Given the description of an element on the screen output the (x, y) to click on. 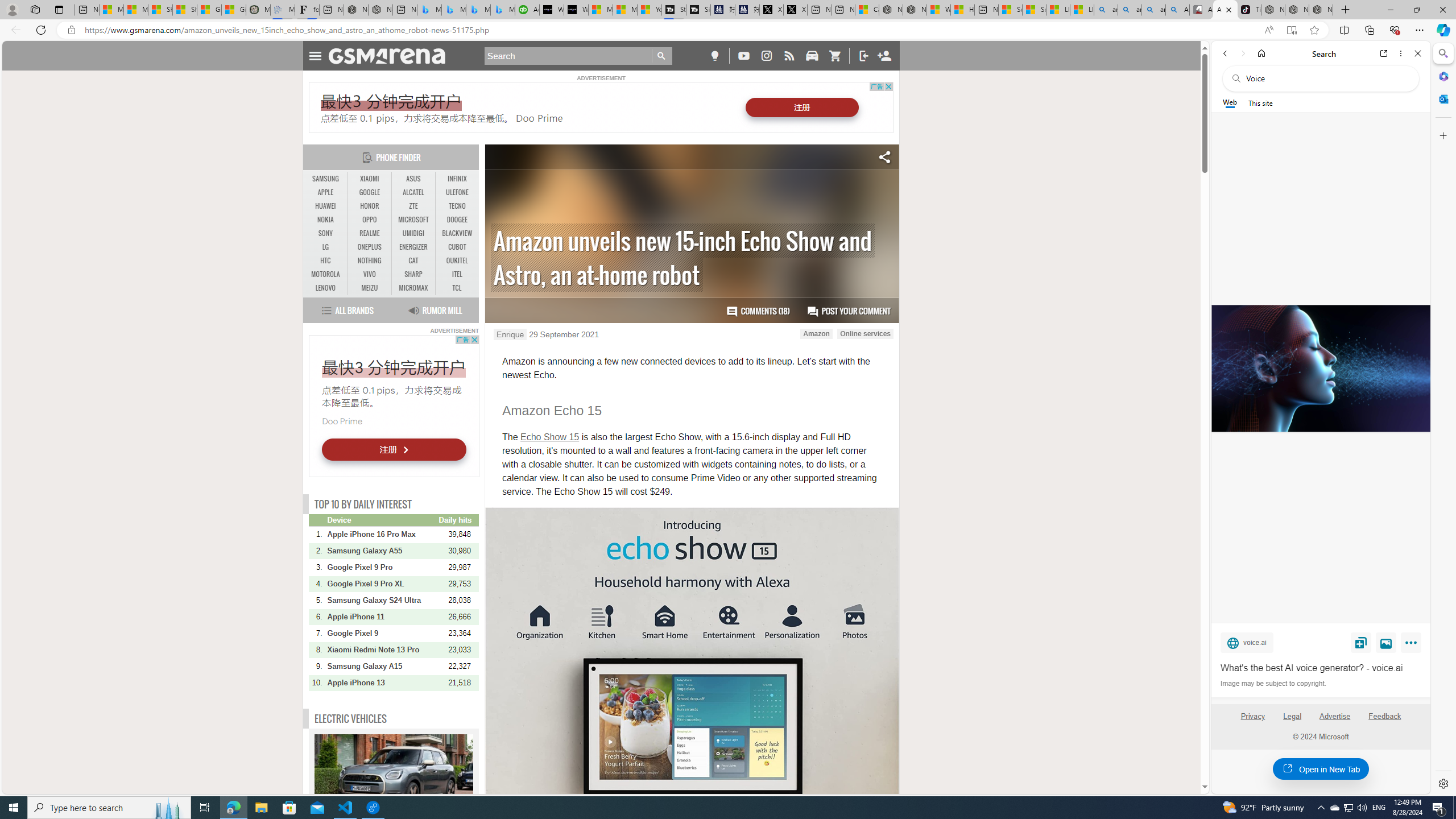
MICROSOFT (413, 219)
voice.ai (1247, 642)
CAT (413, 260)
SONY (325, 233)
ASUS (413, 178)
Search the web (1326, 78)
HONOR (369, 205)
Settings (1442, 783)
Samsung Galaxy A55 (381, 550)
Amazon (816, 333)
Image may be subject to copyright. (1273, 682)
